Given the description of an element on the screen output the (x, y) to click on. 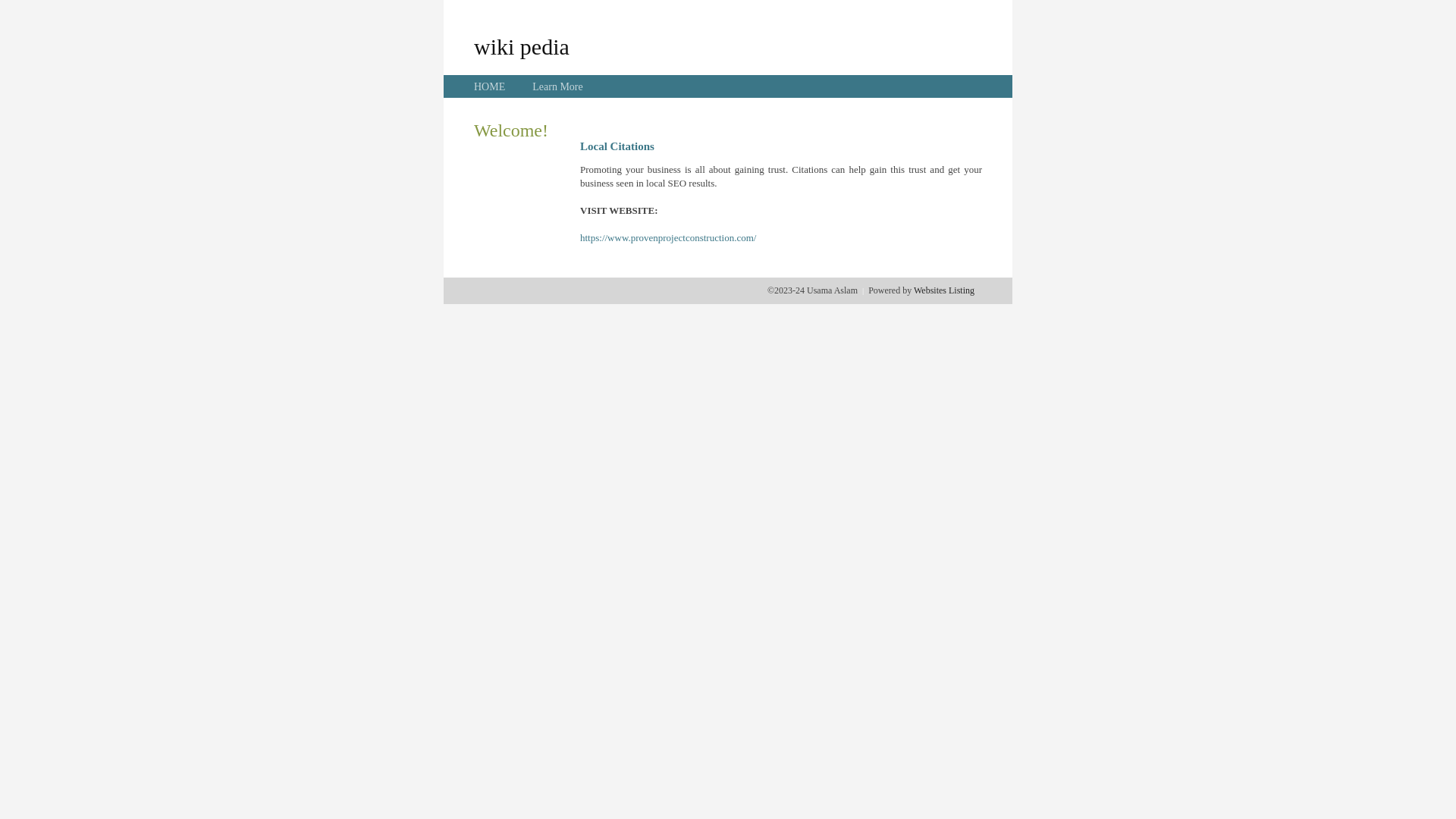
HOME Element type: text (489, 86)
wiki pedia Element type: text (521, 46)
Websites Listing Element type: text (943, 290)
https://www.provenprojectconstruction.com/ Element type: text (668, 237)
Learn More Element type: text (557, 86)
